Given the description of an element on the screen output the (x, y) to click on. 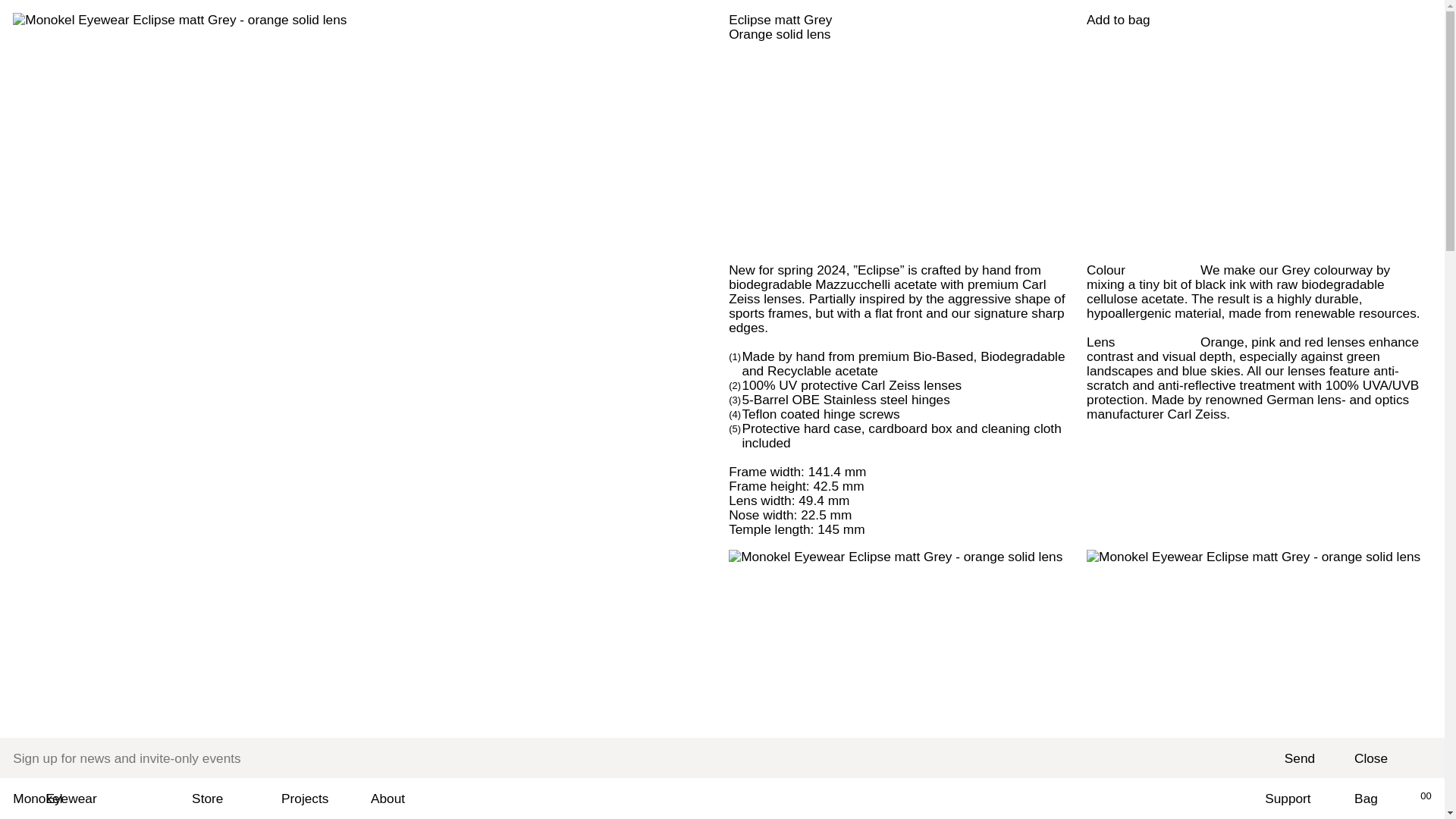
Close (1370, 758)
Send (1298, 758)
Monokel Eyewear (64, 798)
